Given the description of an element on the screen output the (x, y) to click on. 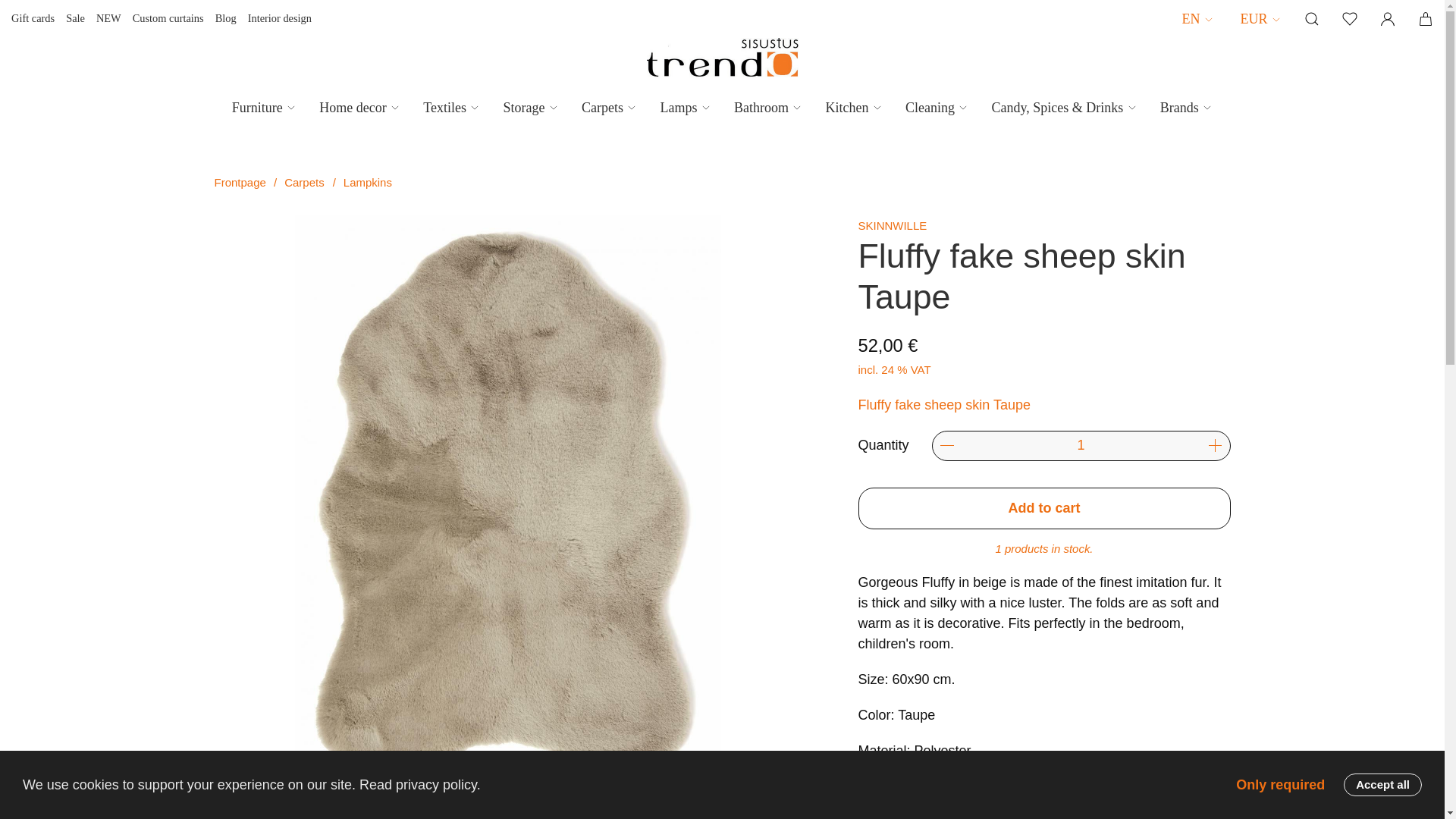
1 (1080, 445)
Textiles (452, 107)
Interior design (279, 18)
Home decor (359, 107)
Custom curtains (167, 18)
EUR (1261, 19)
Furniture (264, 107)
Gift cards (33, 18)
NEW (108, 18)
EN (1197, 19)
